Given the description of an element on the screen output the (x, y) to click on. 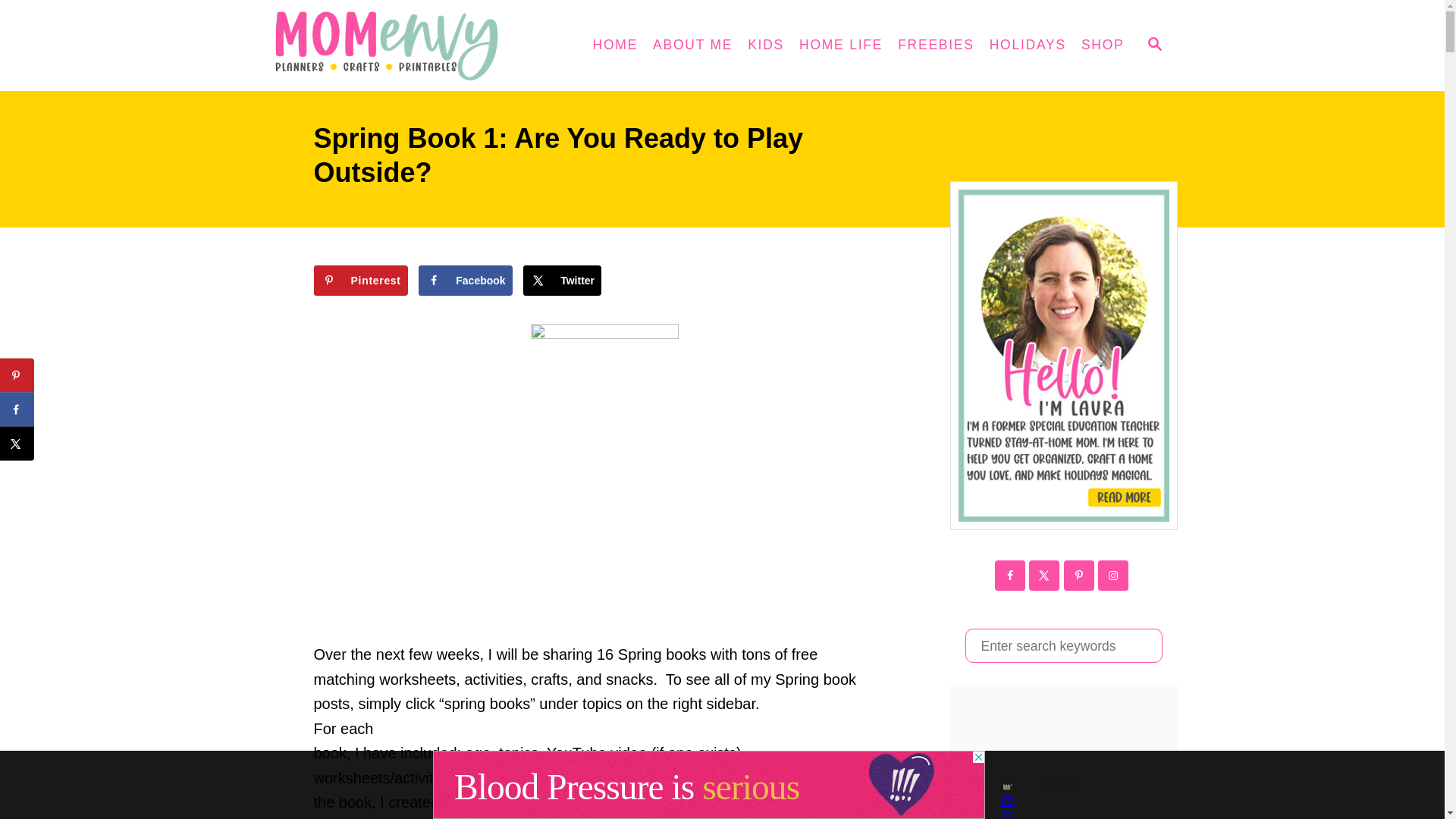
SEARCH (1153, 45)
KIDS (765, 45)
FREEBIES (935, 45)
Search for: (1062, 645)
Follow on X (1044, 575)
Mom Envy (403, 45)
Follow on Pinterest (1077, 575)
Save to Pinterest (360, 280)
HOME LIFE (840, 45)
Share on X (561, 280)
Share on Facebook (465, 280)
ABOUT ME (692, 45)
Follow on Instagram (1112, 575)
HOME (615, 45)
Follow on Facebook (1009, 575)
